Given the description of an element on the screen output the (x, y) to click on. 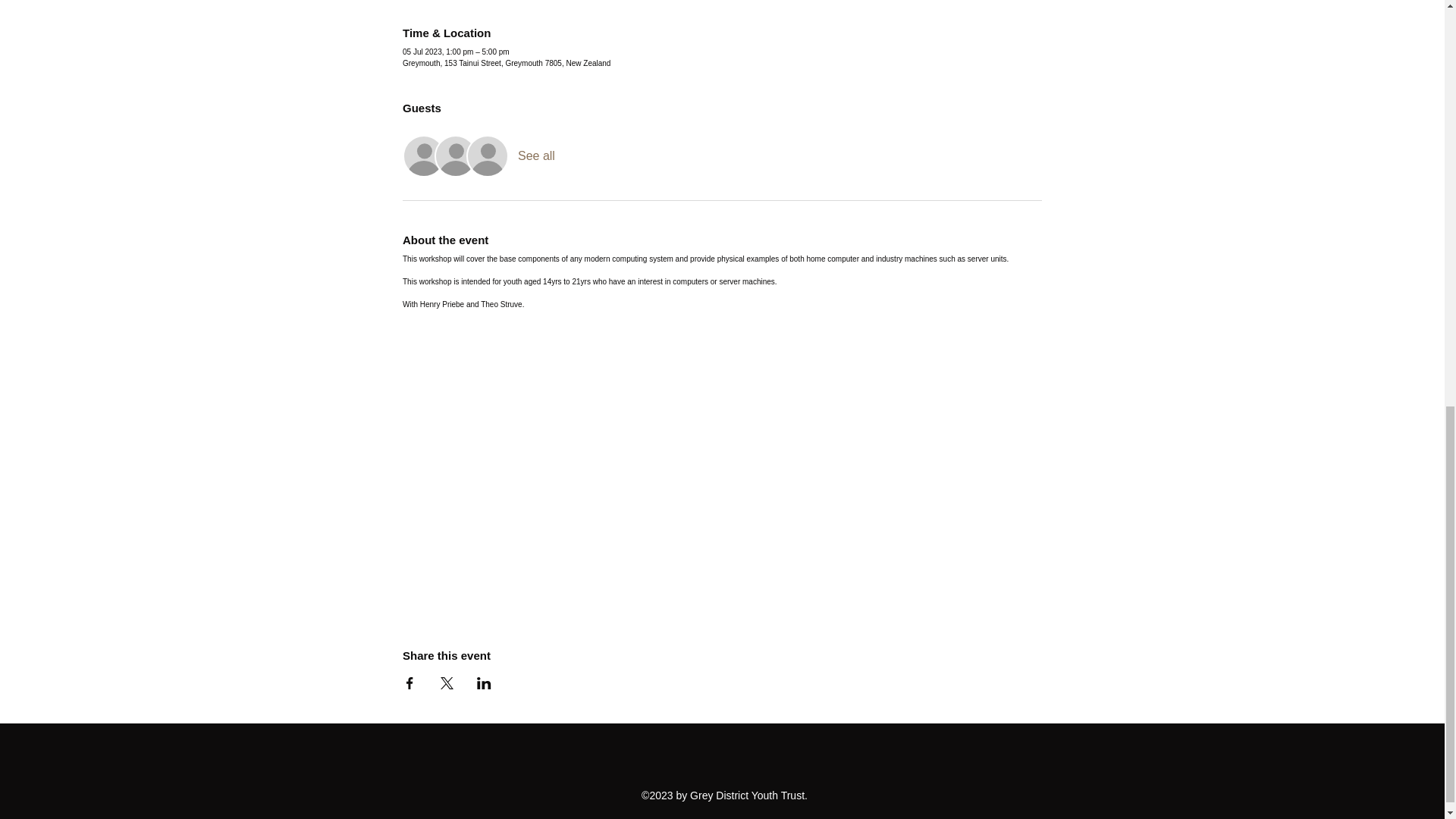
See all (536, 156)
